Given the description of an element on the screen output the (x, y) to click on. 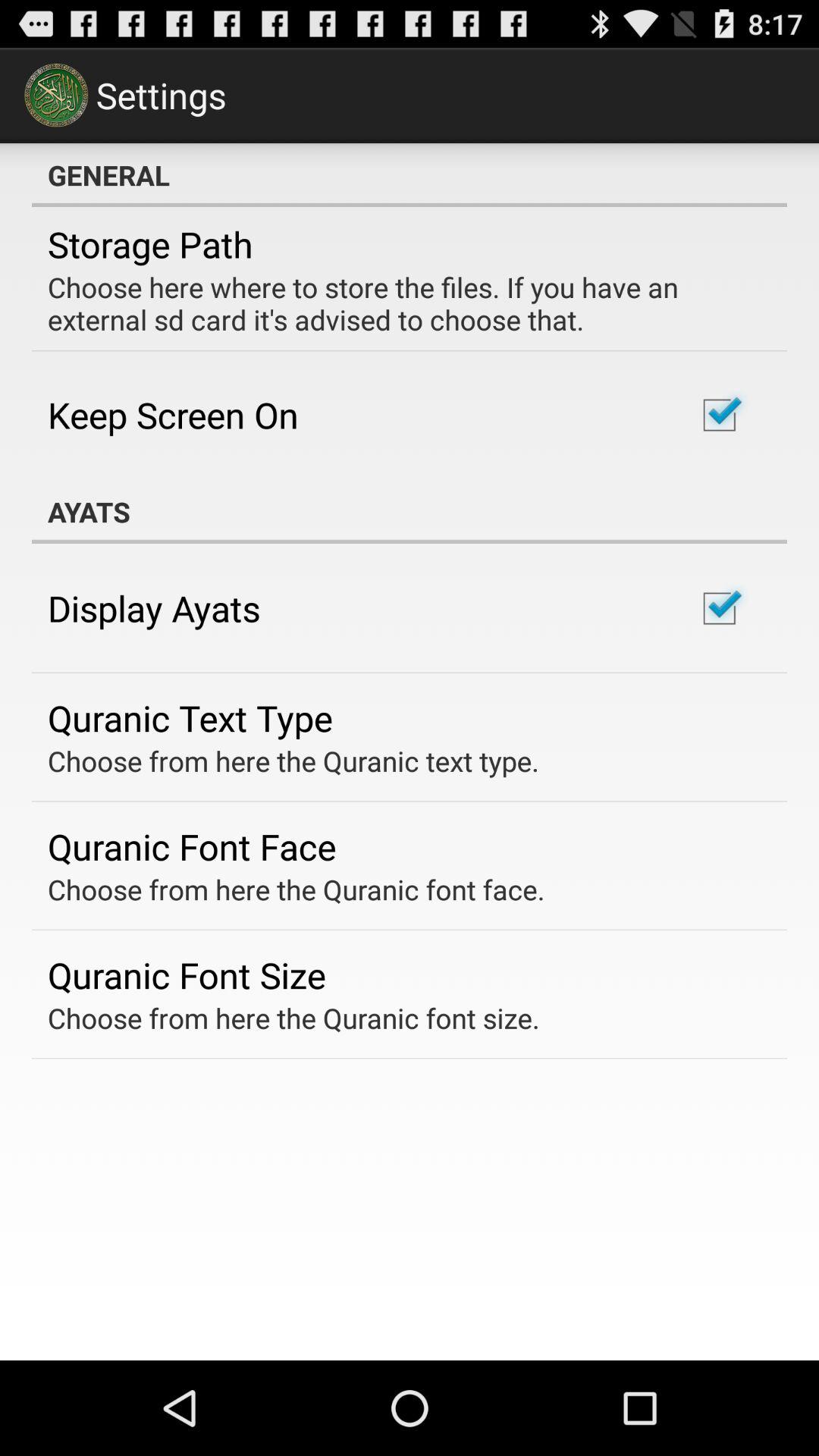
tap the icon below the general (150, 244)
